Given the description of an element on the screen output the (x, y) to click on. 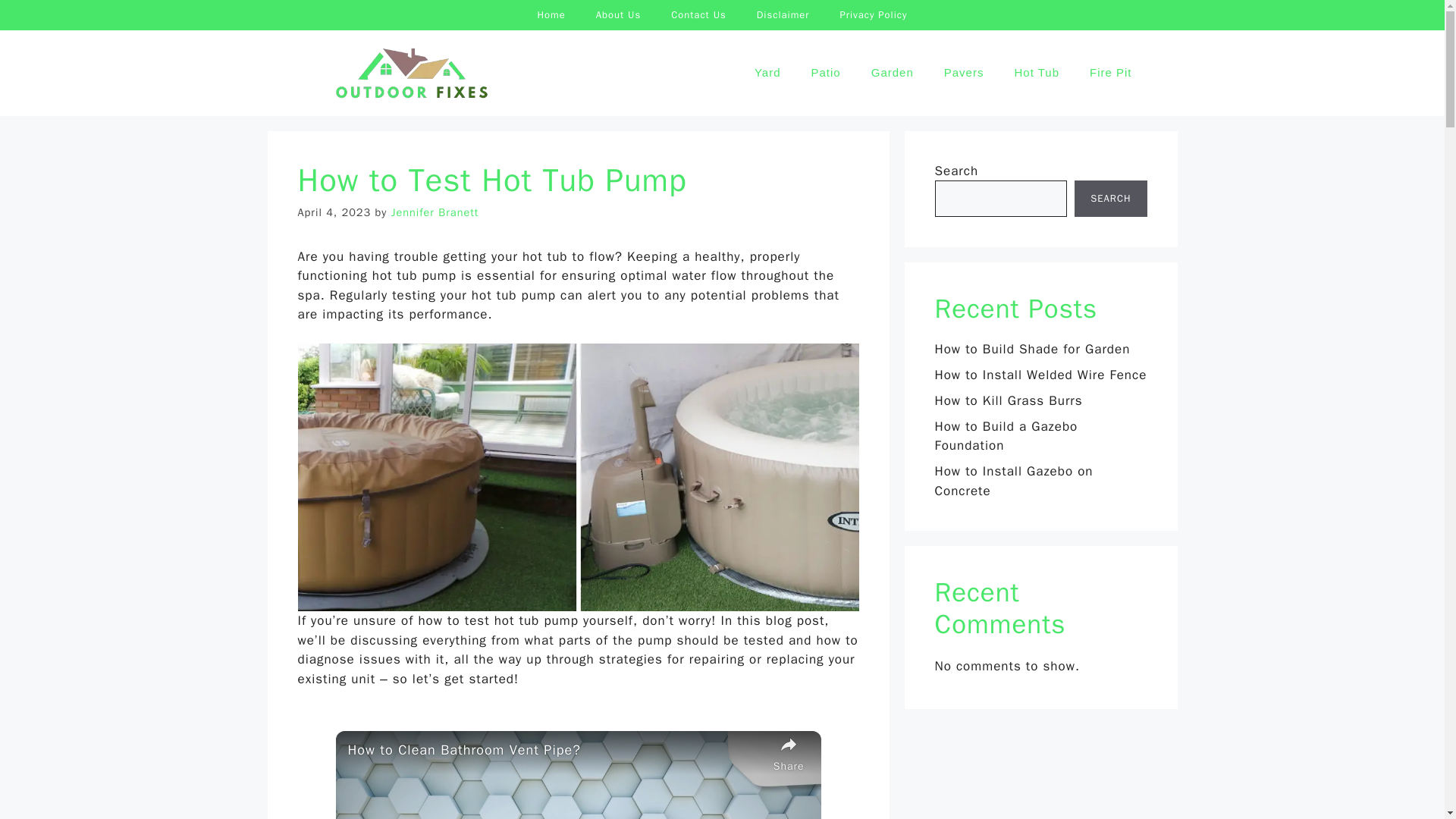
Hot Tub (1036, 72)
SEARCH (1110, 198)
Contact Us (698, 15)
Home (550, 15)
How to Clean Bathroom Vent Pipe? (556, 750)
Jennifer Branett (435, 212)
Yard (767, 72)
Patio (826, 72)
Pavers (963, 72)
Privacy Policy (872, 15)
View all posts by Jennifer Branett (435, 212)
Fire Pit (1110, 72)
How to Build Shade for Garden (1031, 349)
Disclaimer (783, 15)
About Us (618, 15)
